Given the description of an element on the screen output the (x, y) to click on. 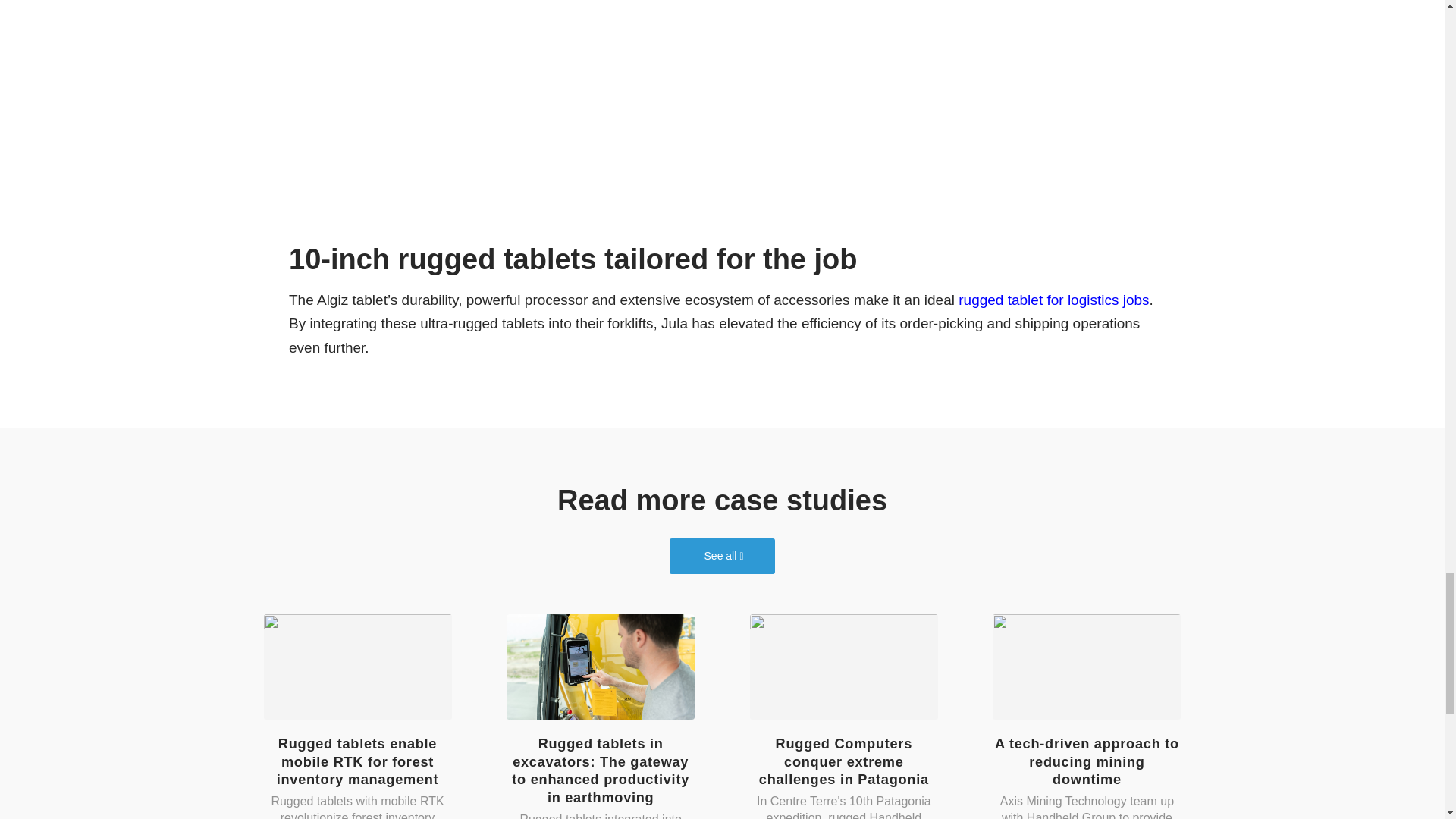
A tech-driven approach to reducing mining downtime (1086, 761)
Rugged Computers conquer extreme challenges in Patagonia (843, 761)
A tech-driven approach to reducing mining downtime (1086, 761)
rugged tablet for logistics jobs (1053, 299)
Rugged Computers conquer extreme challenges in Patagonia (843, 761)
See all (721, 556)
Rugged Computers conquer extreme challenges in Patagonia (843, 667)
